Given the description of an element on the screen output the (x, y) to click on. 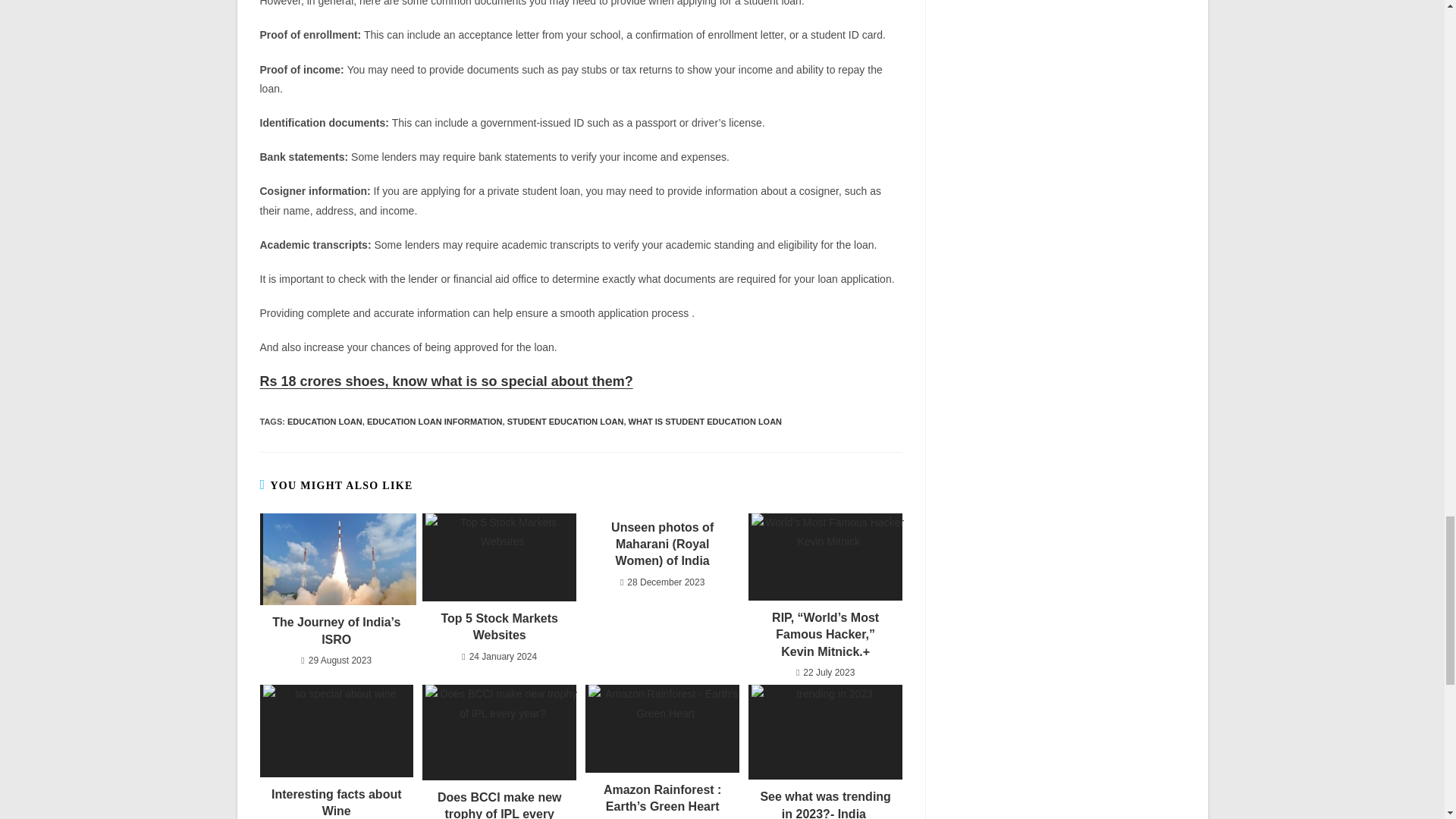
EDUCATION LOAN (324, 420)
Top 5 Stock Markets Websites (498, 627)
Rs 18 crores shoes, know what is so special about them? (445, 381)
EDUCATION LOAN INFORMATION (434, 420)
Rs 18 crores shoes, know what is so special about them? (445, 381)
STUDENT EDUCATION LOAN (565, 420)
WHAT IS STUDENT EDUCATION LOAN (704, 420)
